Given the description of an element on the screen output the (x, y) to click on. 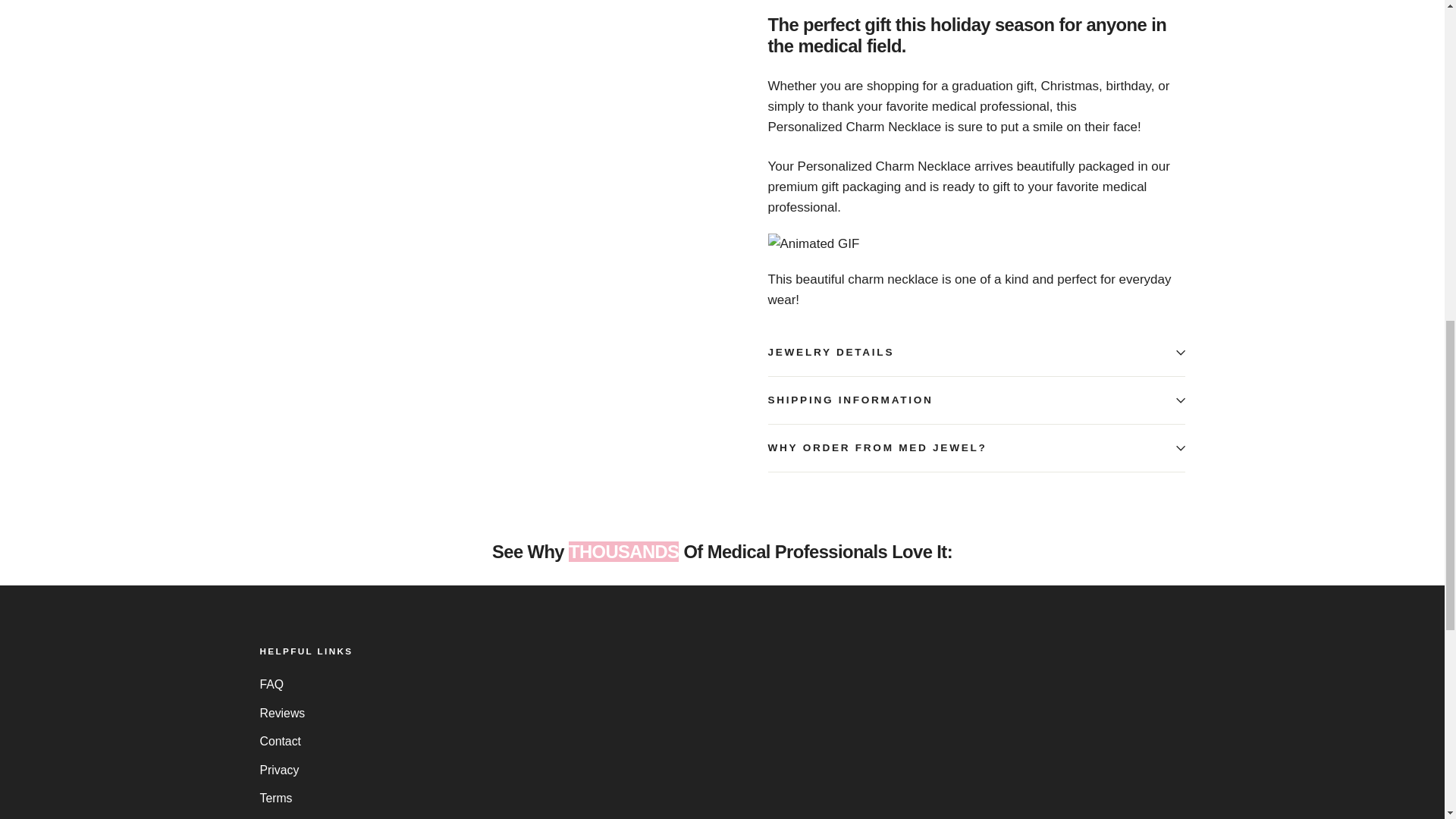
Reviews (722, 713)
WHY ORDER FROM MED JEWEL? (976, 448)
JEWELRY DETAILS (976, 352)
Privacy (722, 769)
SHIPPING INFORMATION (976, 400)
Contact (722, 740)
FAQ (722, 683)
Terms (722, 797)
